Given the description of an element on the screen output the (x, y) to click on. 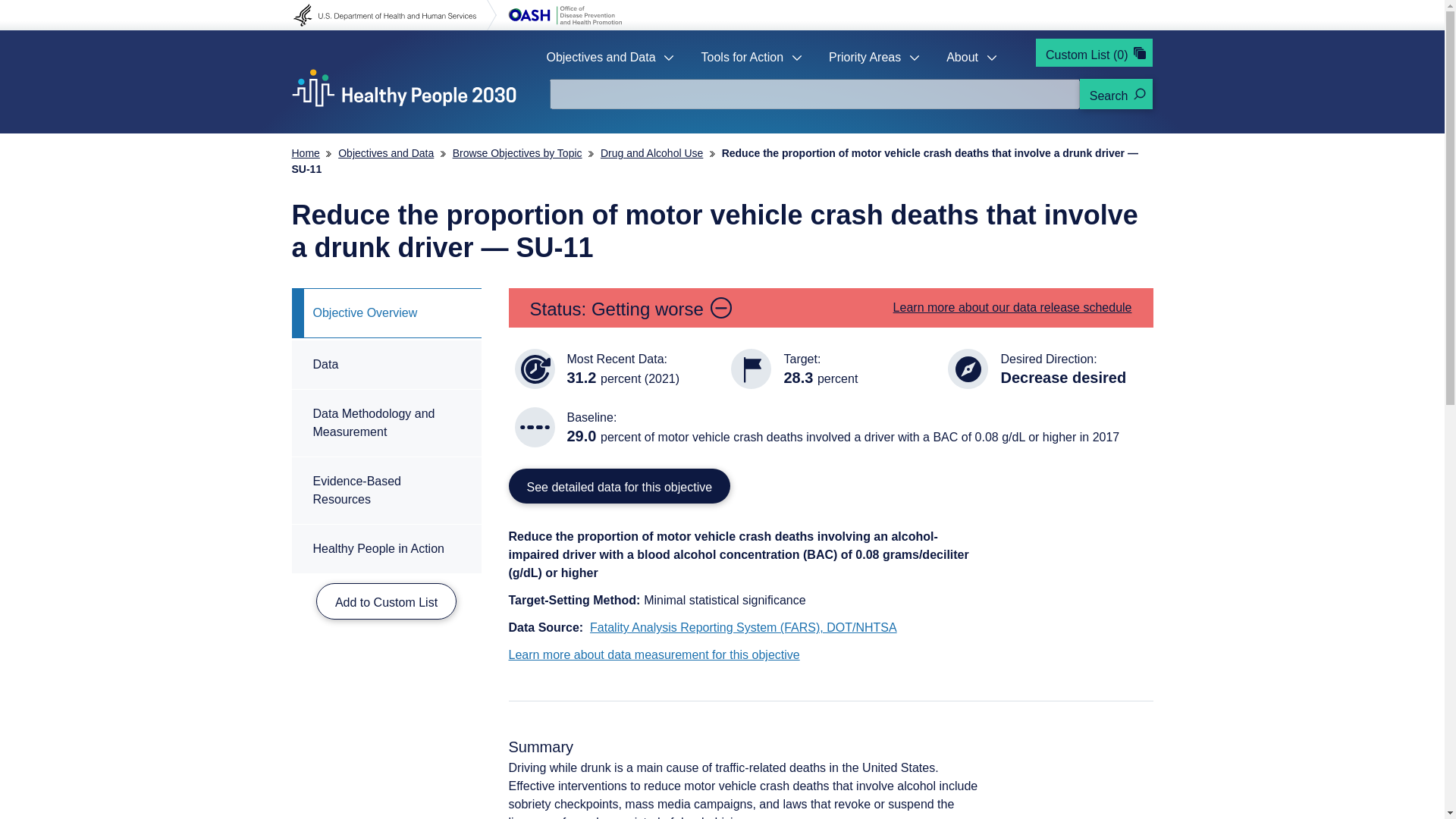
Search (1116, 93)
Healthy People (403, 87)
Home (403, 87)
Search (1116, 93)
Office of Disease Prevention and Health Promotion (563, 15)
Drug and Alcohol Use (651, 152)
Home (304, 152)
U.S. Department of Health and Human Services (394, 15)
Priority Areas (864, 57)
Browse Objectives by Topic (517, 152)
Objectives and Data (385, 152)
About (962, 57)
